Given the description of an element on the screen output the (x, y) to click on. 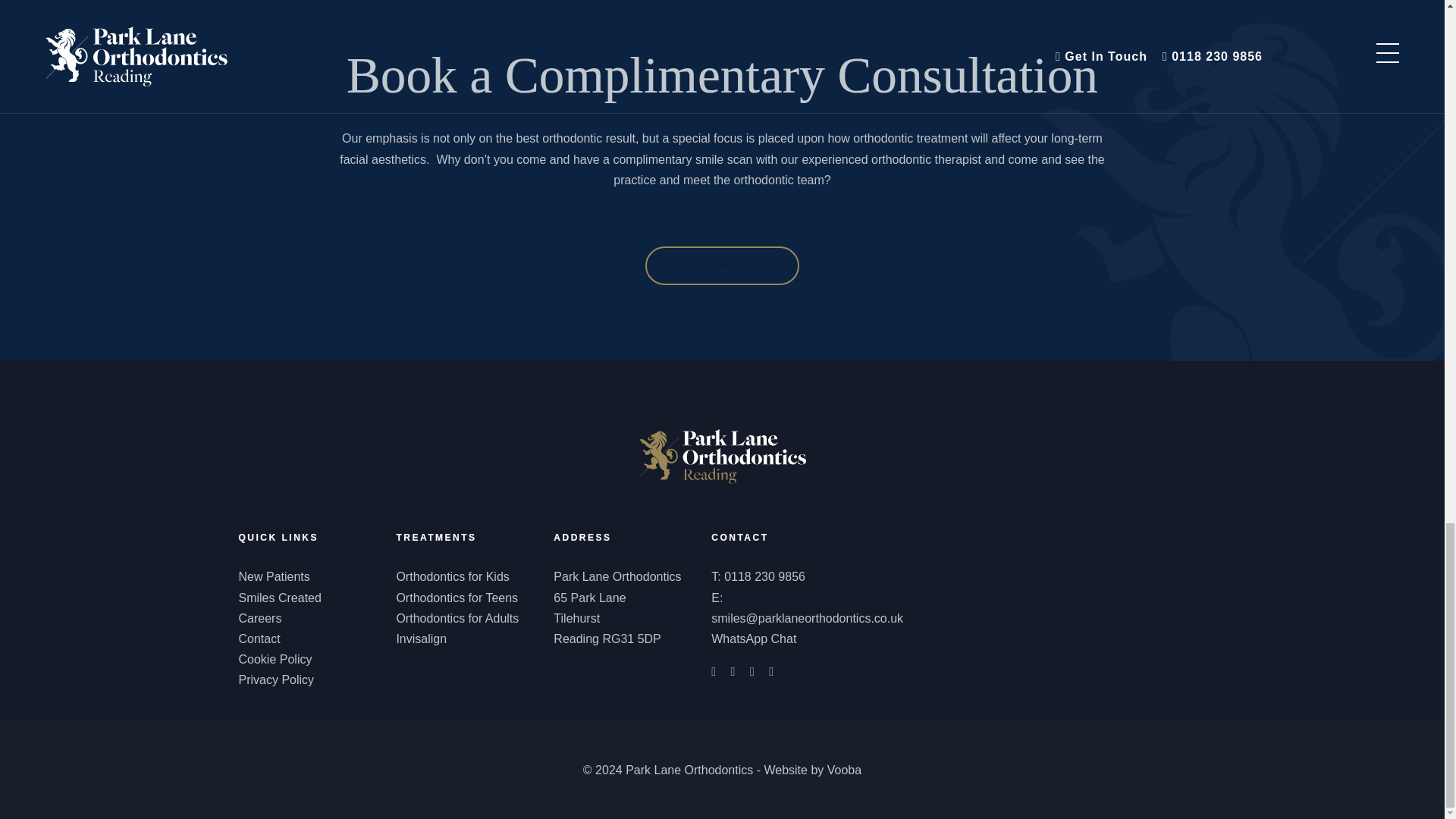
New Patients (273, 576)
Got to blog list (722, 455)
Smiles Created (279, 597)
GET IN TOUCH (722, 265)
